Given the description of an element on the screen output the (x, y) to click on. 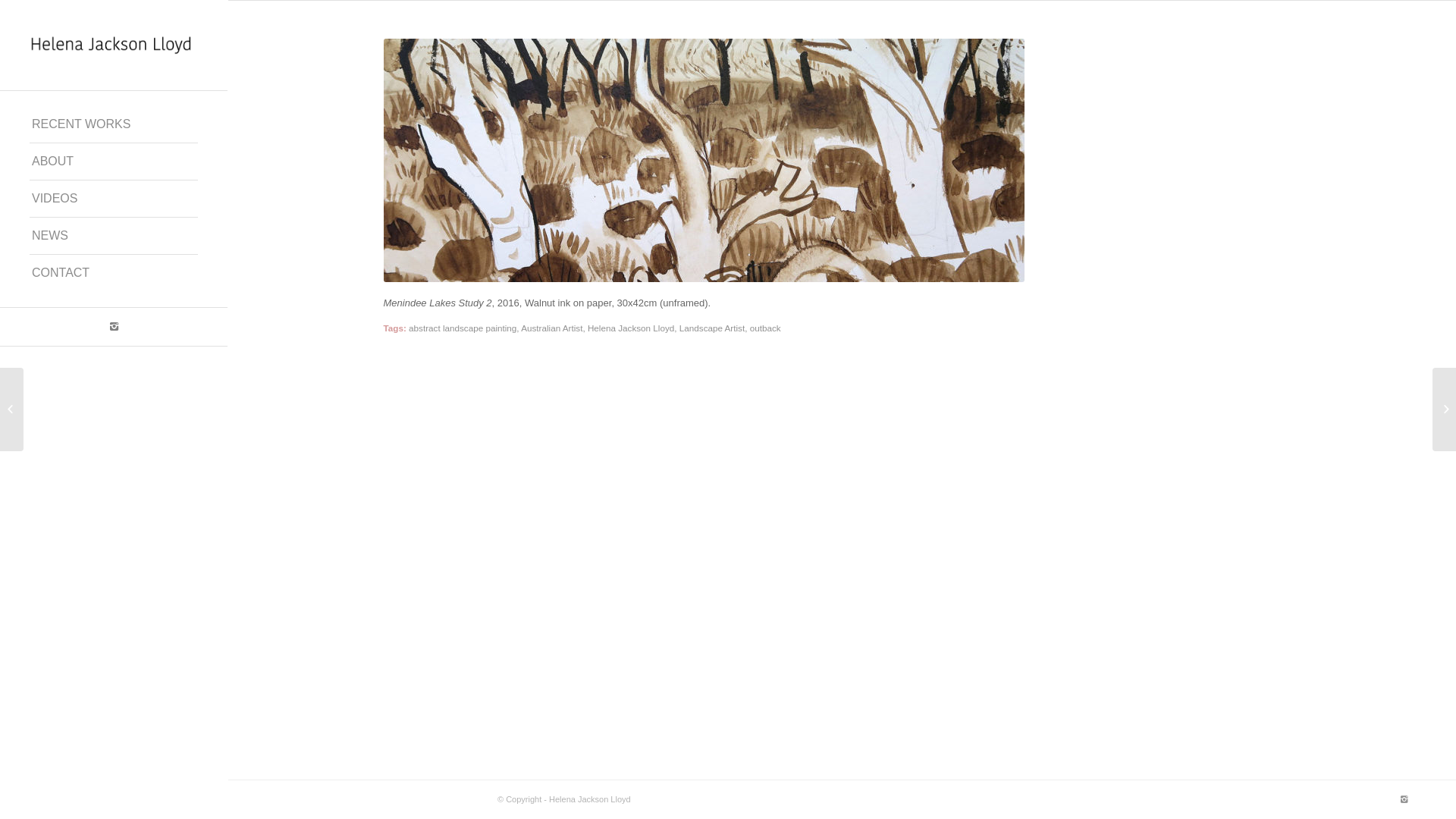
VIDEOS Element type: text (113, 198)
Instagram Element type: hover (113, 326)
Landscape Artist Element type: text (711, 327)
NEWS Element type: text (113, 235)
CONTACT Element type: text (113, 272)
abstract landscape painting Element type: text (462, 327)
ABOUT Element type: text (113, 161)
RECENT WORKS Element type: text (113, 124)
outback Element type: text (765, 327)
Instagram Element type: hover (1403, 798)
Helena Jackson Lloyd Element type: text (630, 327)
Australian Artist Element type: text (551, 327)
